Given the description of an element on the screen output the (x, y) to click on. 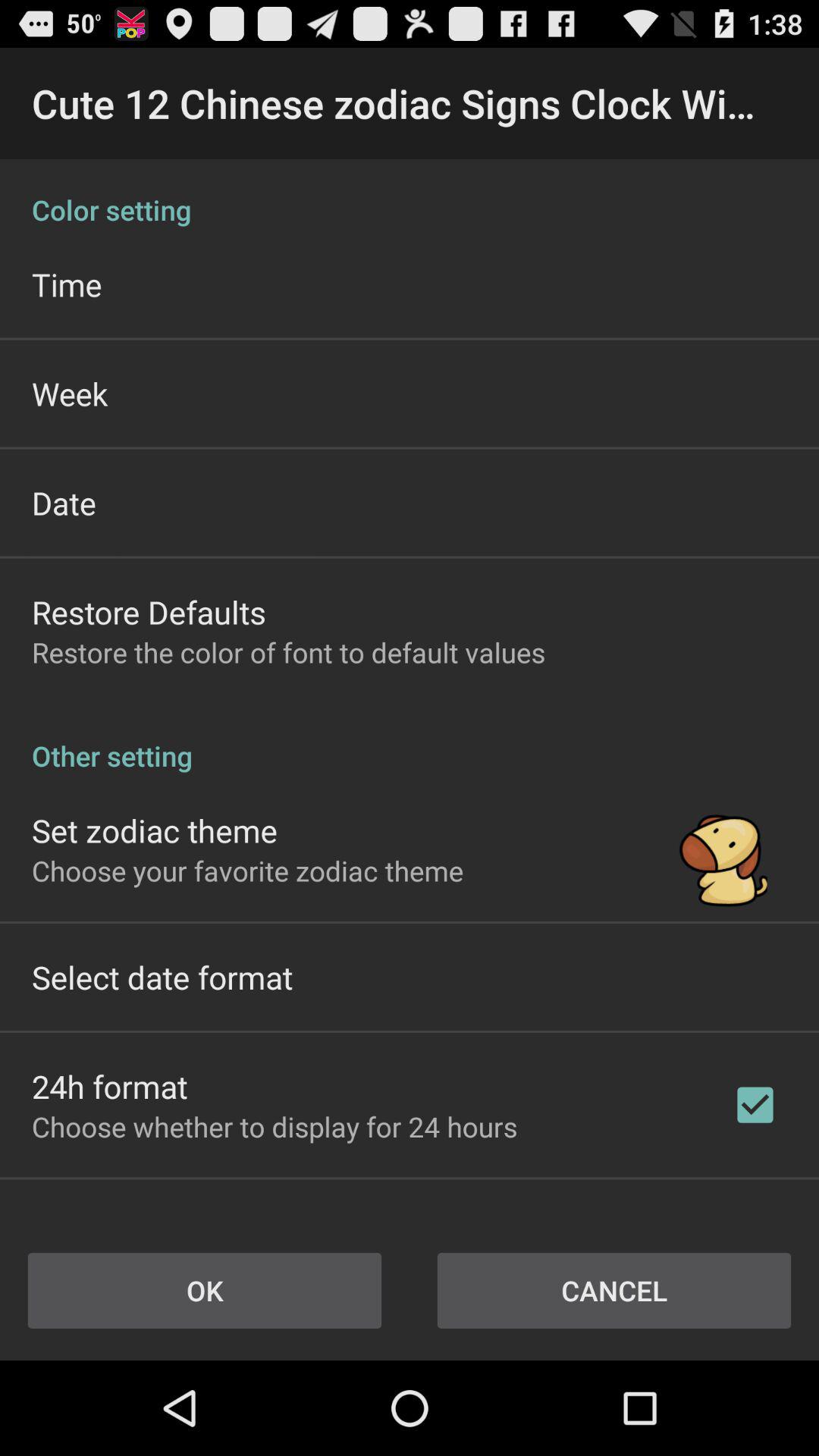
select the app below the choose your favorite item (161, 976)
